Given the description of an element on the screen output the (x, y) to click on. 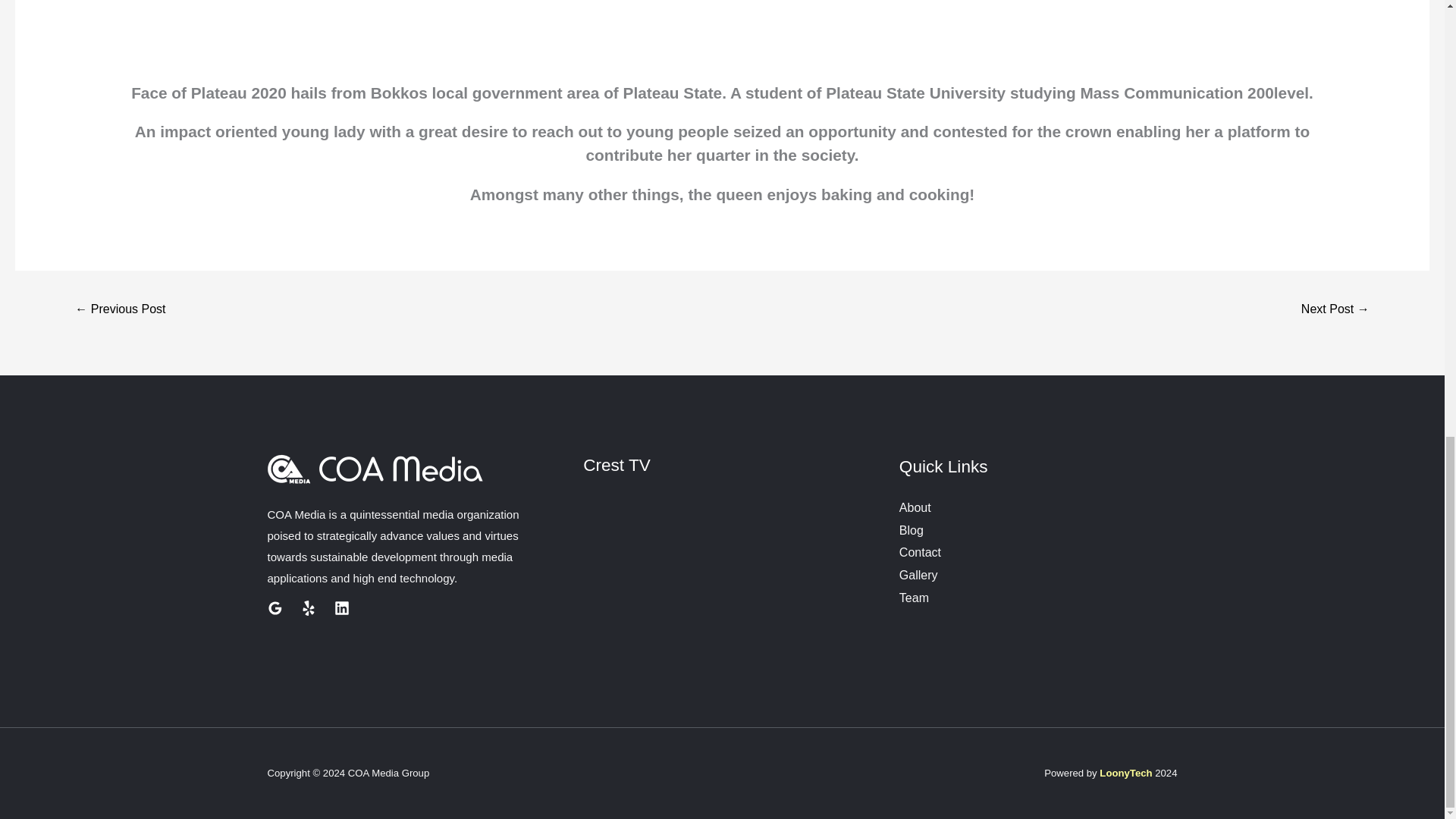
Gallery (918, 574)
PLATEAU MAN OF THE YEAR 2019 (1334, 310)
About (915, 507)
Blog (911, 530)
Team (913, 597)
National Summit for Emerging Nigerian Leaders (119, 310)
Contact (919, 552)
LoonyTech (1125, 772)
